Given the description of an element on the screen output the (x, y) to click on. 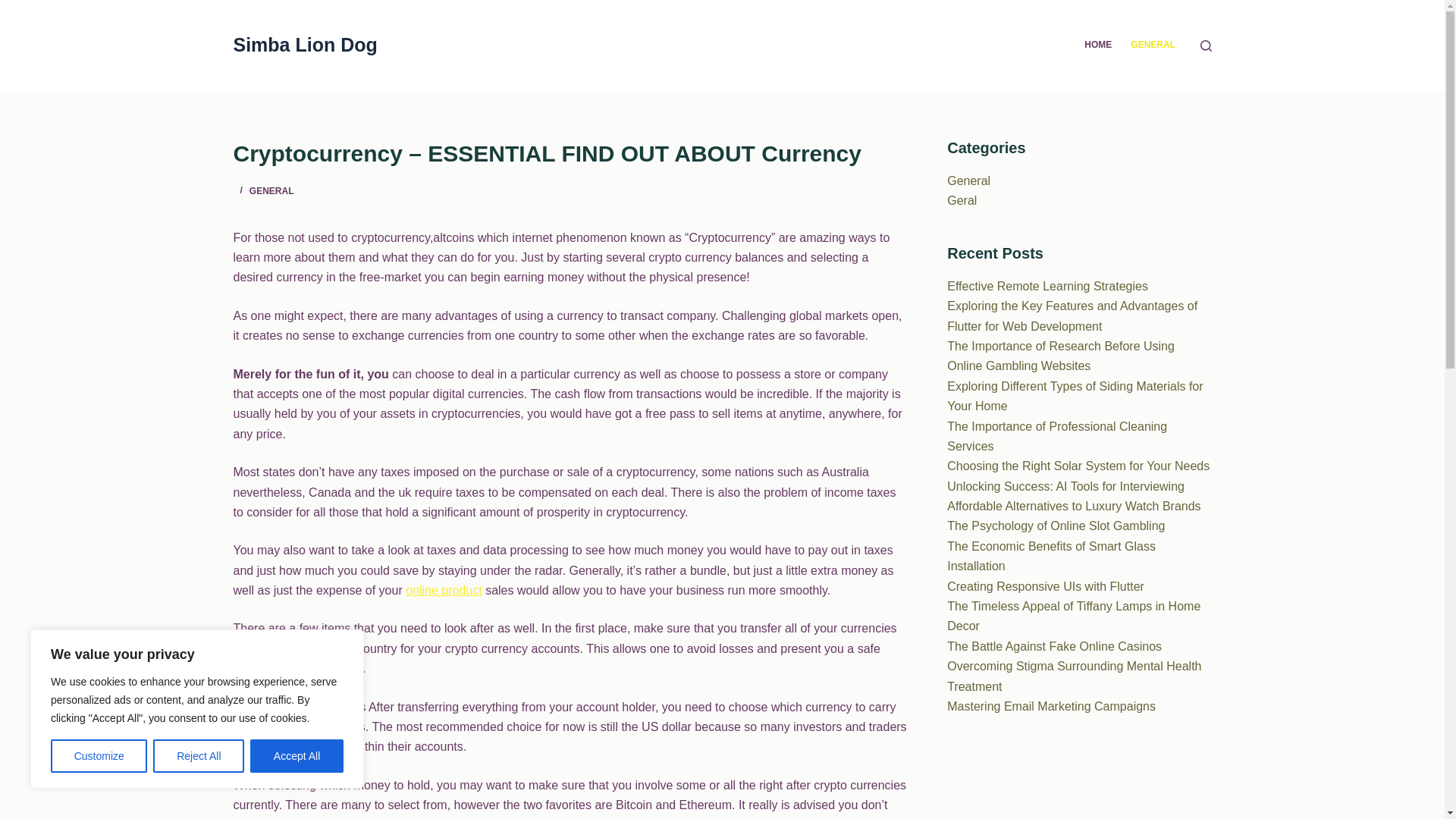
Effective Remote Learning Strategies (1047, 286)
Choosing the Right Solar System for Your Needs (1078, 465)
Reject All (198, 756)
General (968, 180)
Accept All (296, 756)
Simba Lion Dog (304, 44)
Customize (98, 756)
online product (443, 590)
economic climate (315, 667)
